Given the description of an element on the screen output the (x, y) to click on. 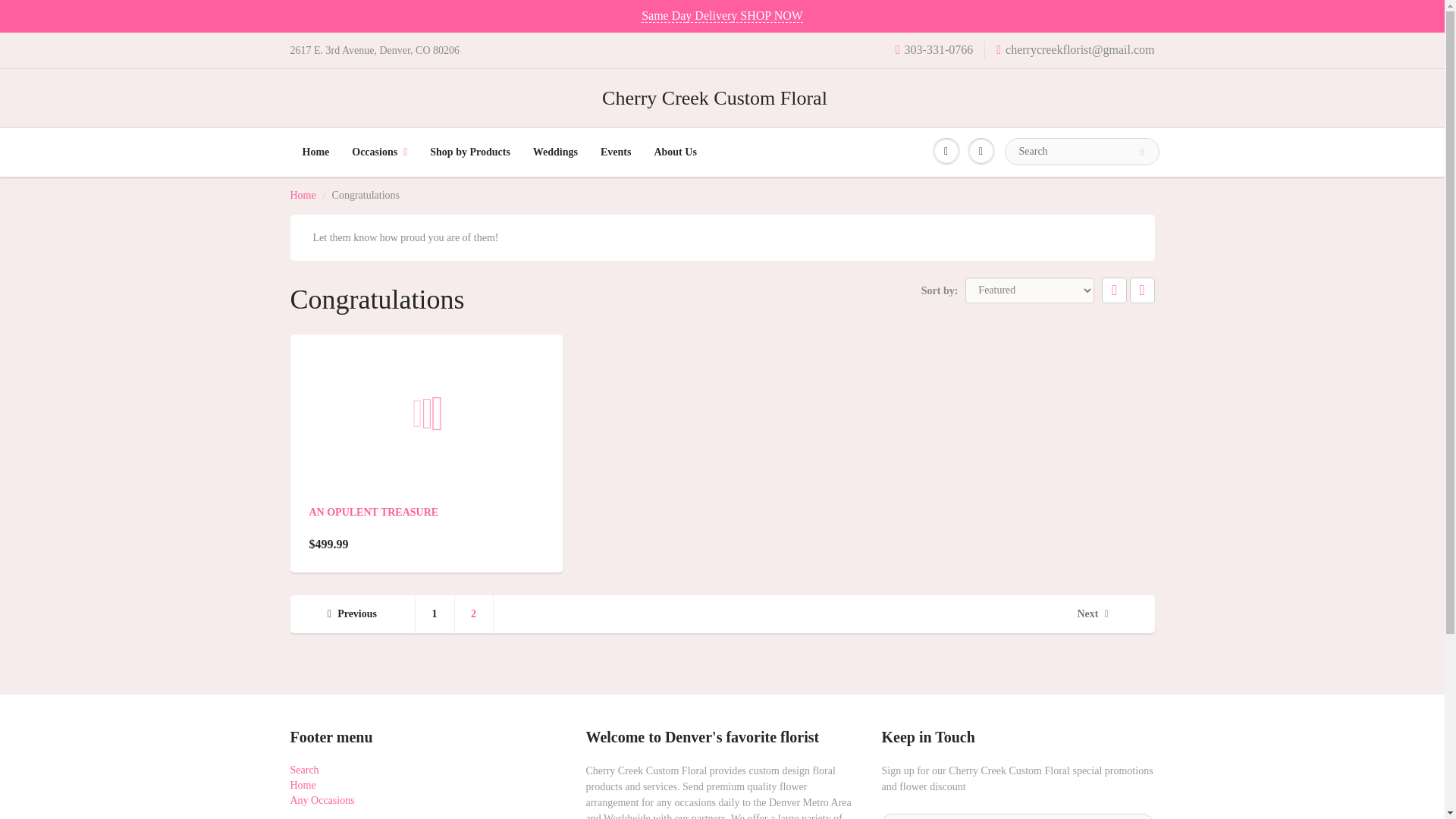
Previous (351, 614)
Home (302, 194)
Events (615, 152)
Occasions (379, 152)
Any Occasions (321, 799)
Weddings (555, 152)
Cherry Creek Custom Floral (722, 98)
List View (1141, 290)
Home (315, 152)
AN OPULENT TREASURE (373, 511)
1 (434, 614)
Search (303, 769)
Shop by Products (470, 152)
Next (1092, 614)
Home (302, 194)
